Given the description of an element on the screen output the (x, y) to click on. 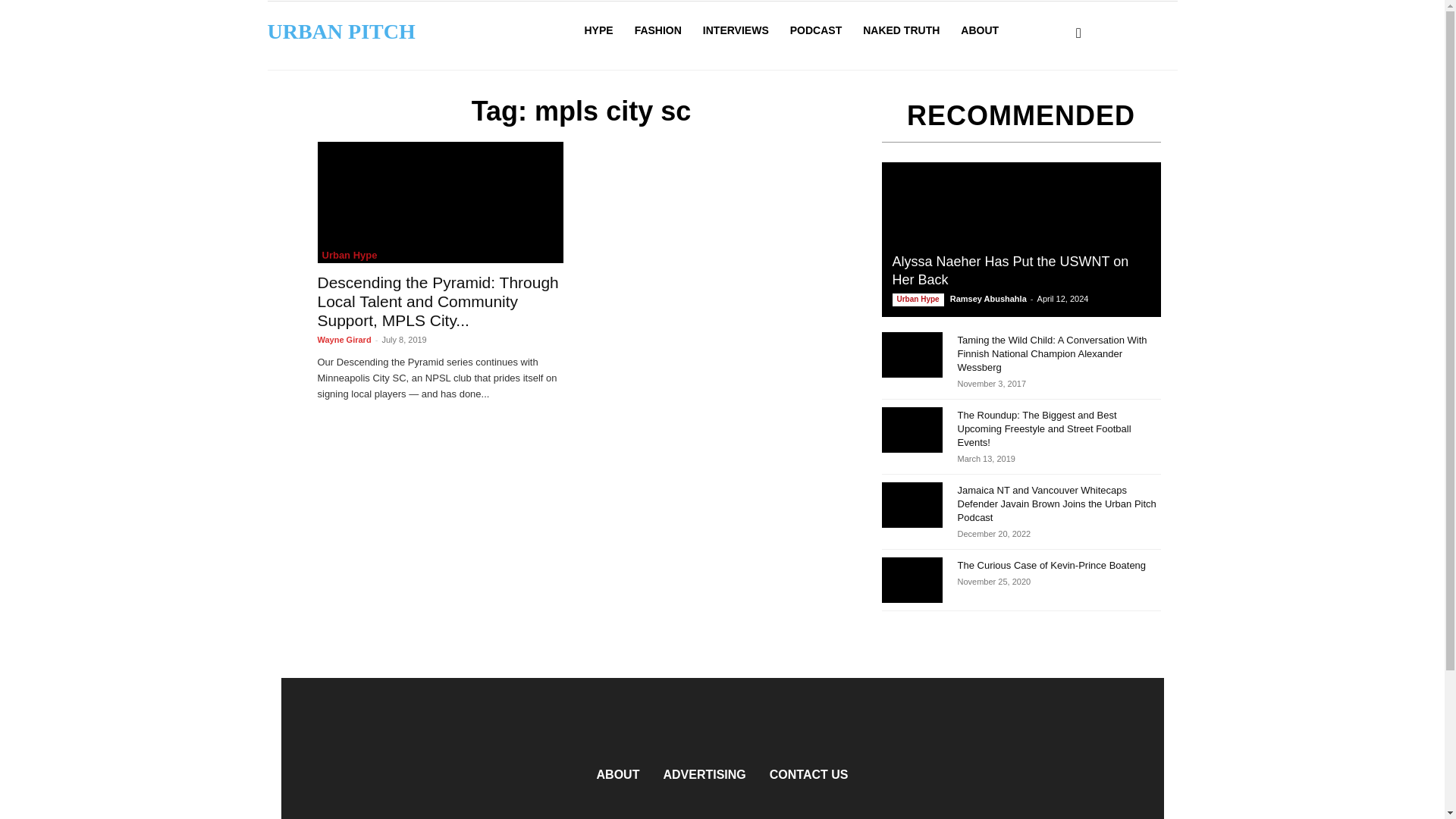
Search (1085, 51)
INTERVIEWS (735, 30)
Ramsey Abushahla (988, 298)
HYPE (598, 30)
ABOUT (979, 30)
Alyssa Naeher Has Put the USWNT on Her Back (1009, 270)
